Given the description of an element on the screen output the (x, y) to click on. 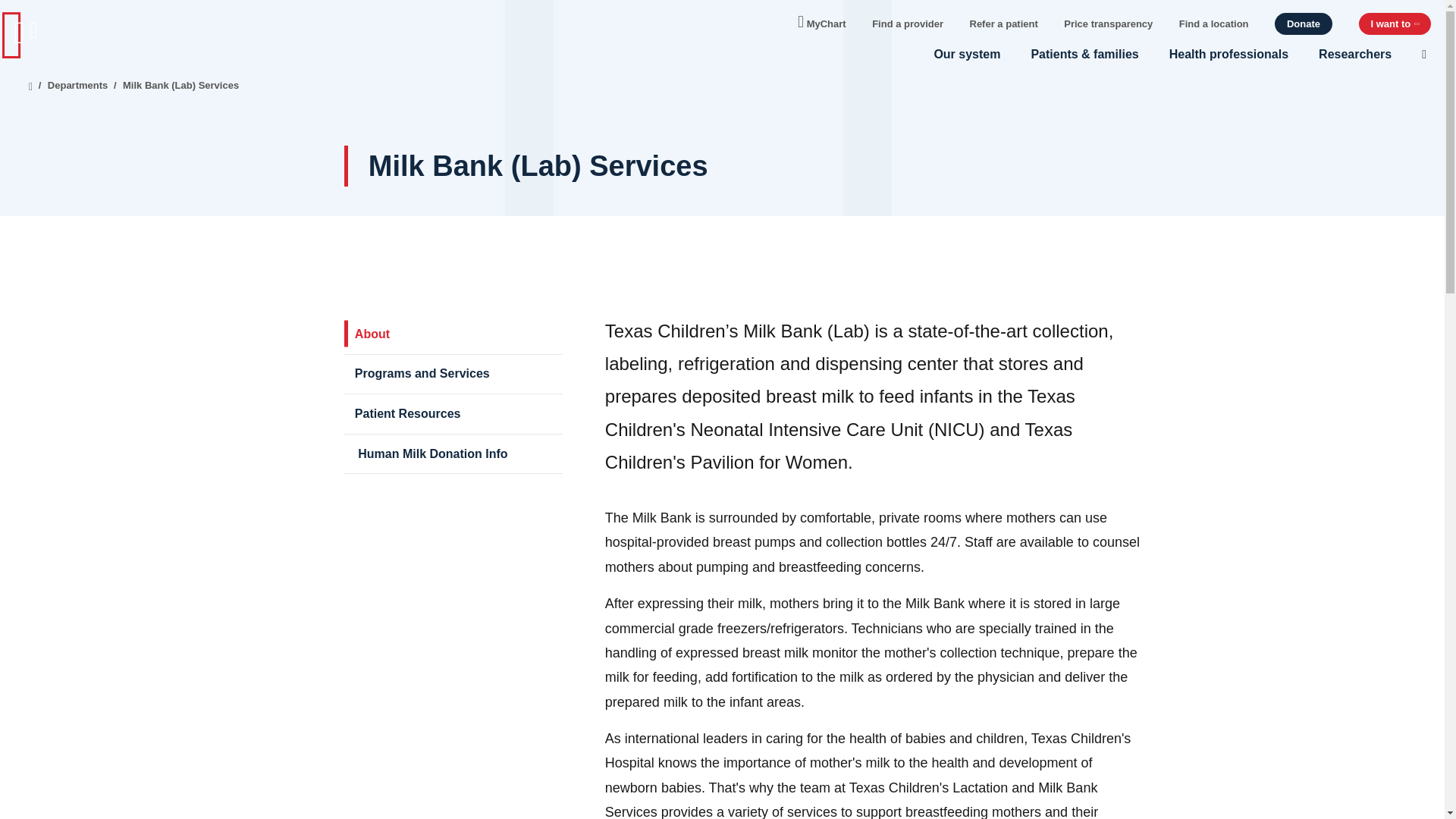
Find a provider (907, 23)
Find a location (1214, 23)
MyChart (821, 20)
Refer a patient (1002, 23)
Donate (1303, 24)
Price transparency (1108, 23)
Our system (966, 54)
